Given the description of an element on the screen output the (x, y) to click on. 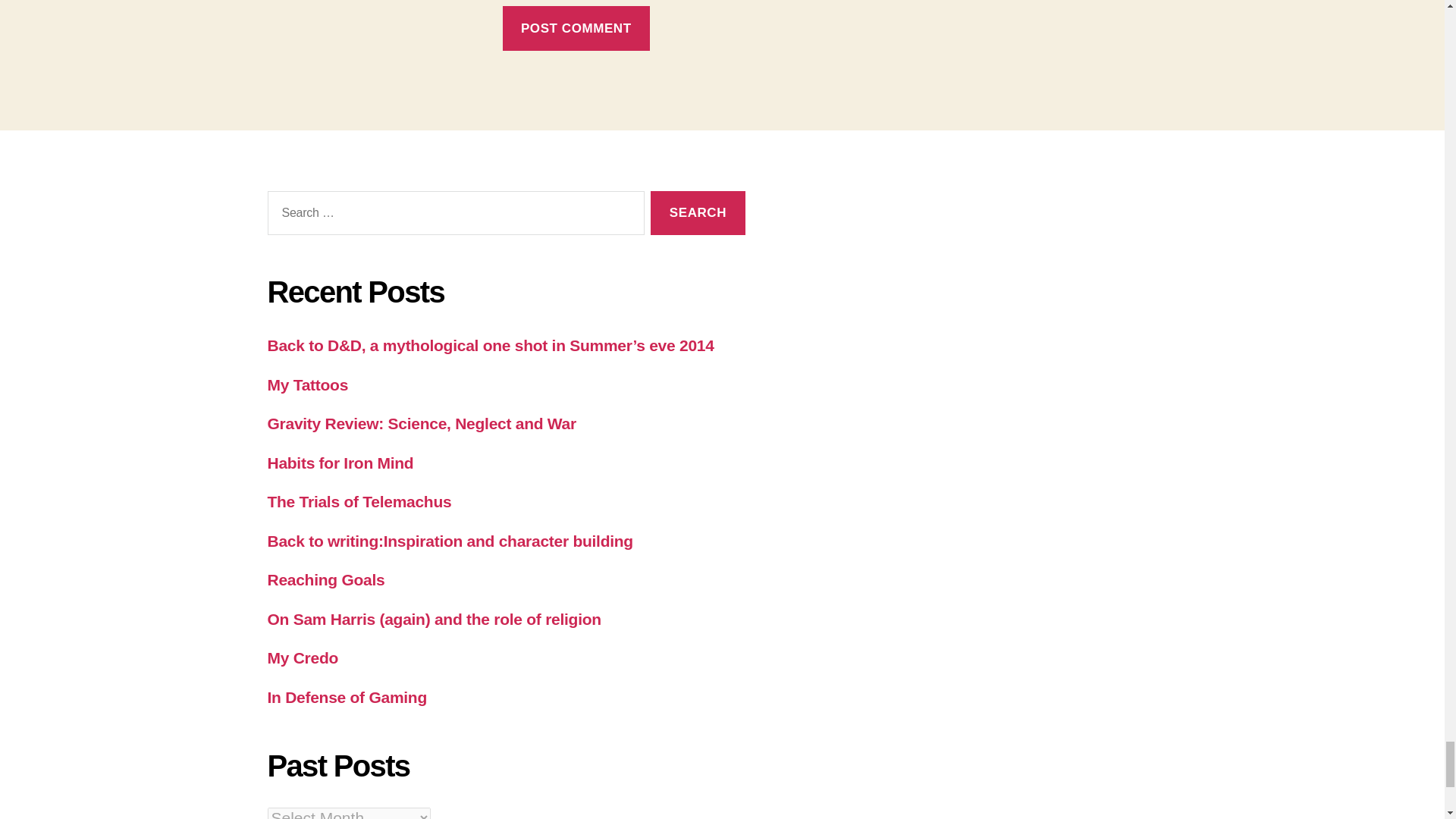
Search (697, 212)
Post Comment (575, 27)
Search (697, 212)
